Given the description of an element on the screen output the (x, y) to click on. 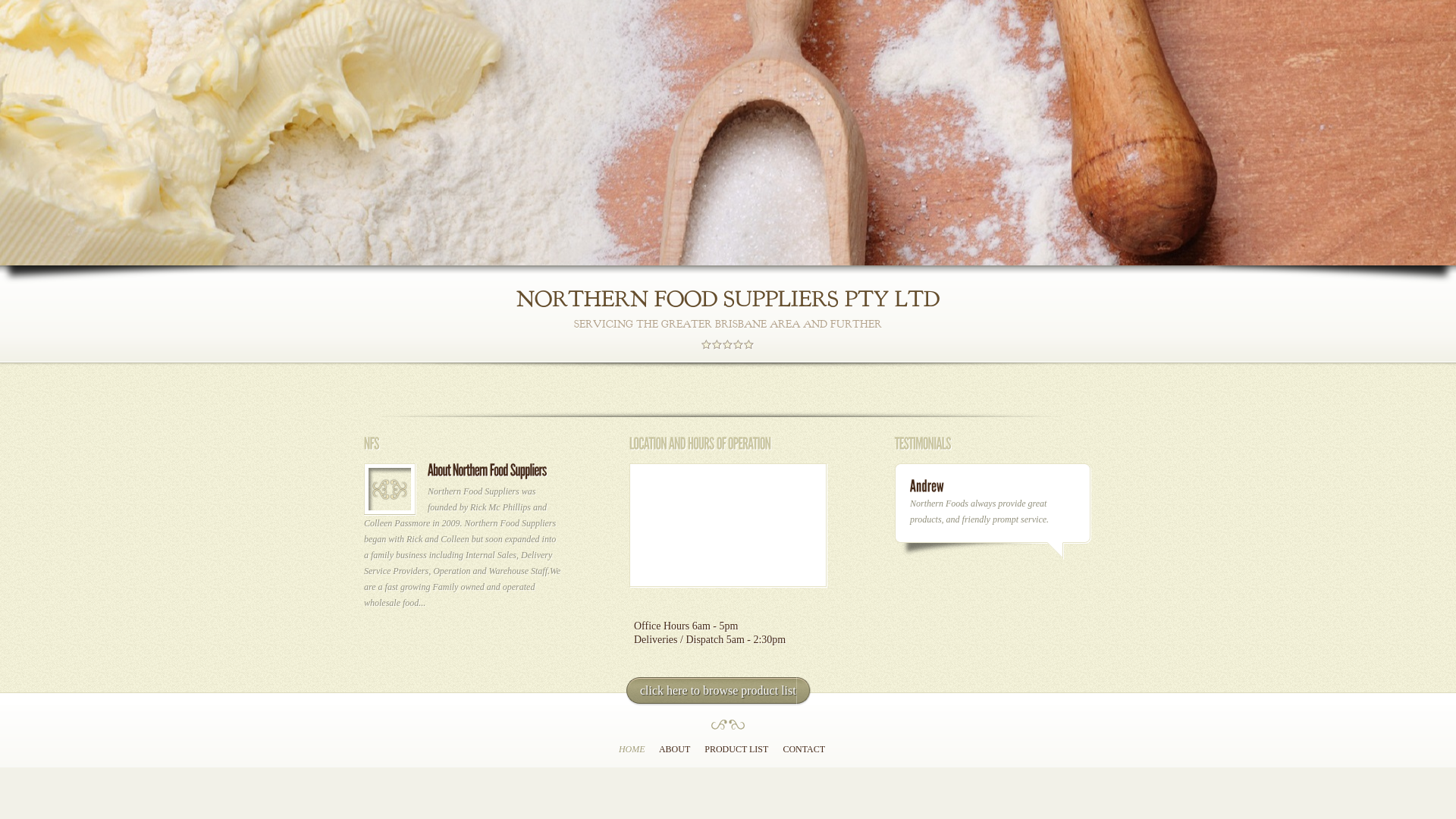
PRODUCT LIST Element type: text (736, 748)
HOME Element type: text (631, 748)
ABOUT Element type: text (1144, 47)
HOME Element type: text (1097, 47)
ABOUT Element type: text (674, 748)
PRODUCT LIST Element type: text (1209, 47)
CONTACT Element type: text (1281, 47)
CONTACT Element type: text (803, 748)
click here to browse product list Element type: text (717, 691)
